Given the description of an element on the screen output the (x, y) to click on. 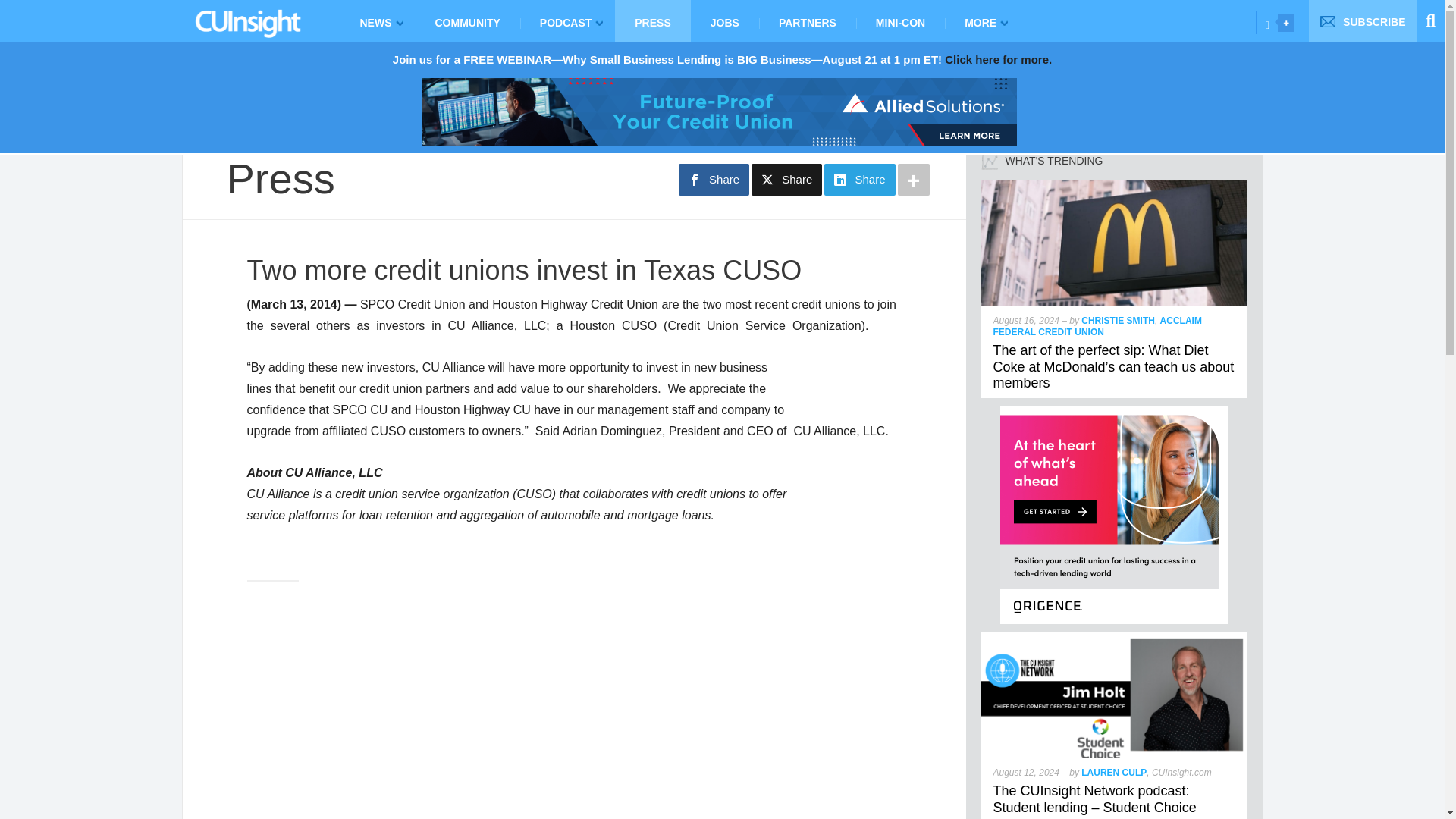
MINI-CON (900, 21)
MORE (982, 21)
Share (713, 179)
PRESS (652, 21)
Press (279, 178)
PODCAST (566, 21)
JOBS (724, 21)
Share (786, 179)
Opener (1286, 22)
SUBSCRIBE (1362, 21)
